Given the description of an element on the screen output the (x, y) to click on. 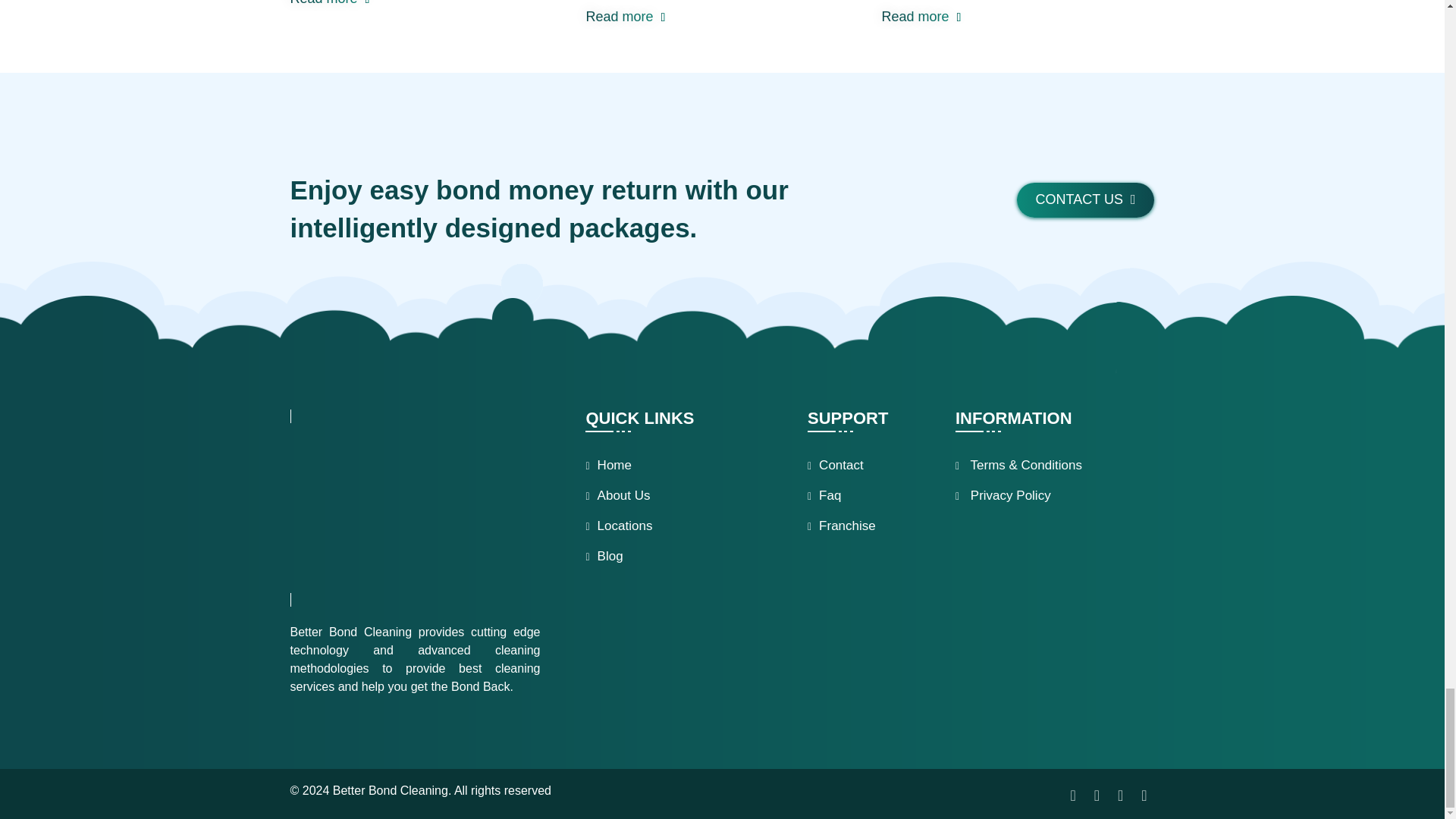
CONTACT US (1085, 199)
Read more (329, 4)
Read more (920, 17)
Read more (625, 17)
